Given the description of an element on the screen output the (x, y) to click on. 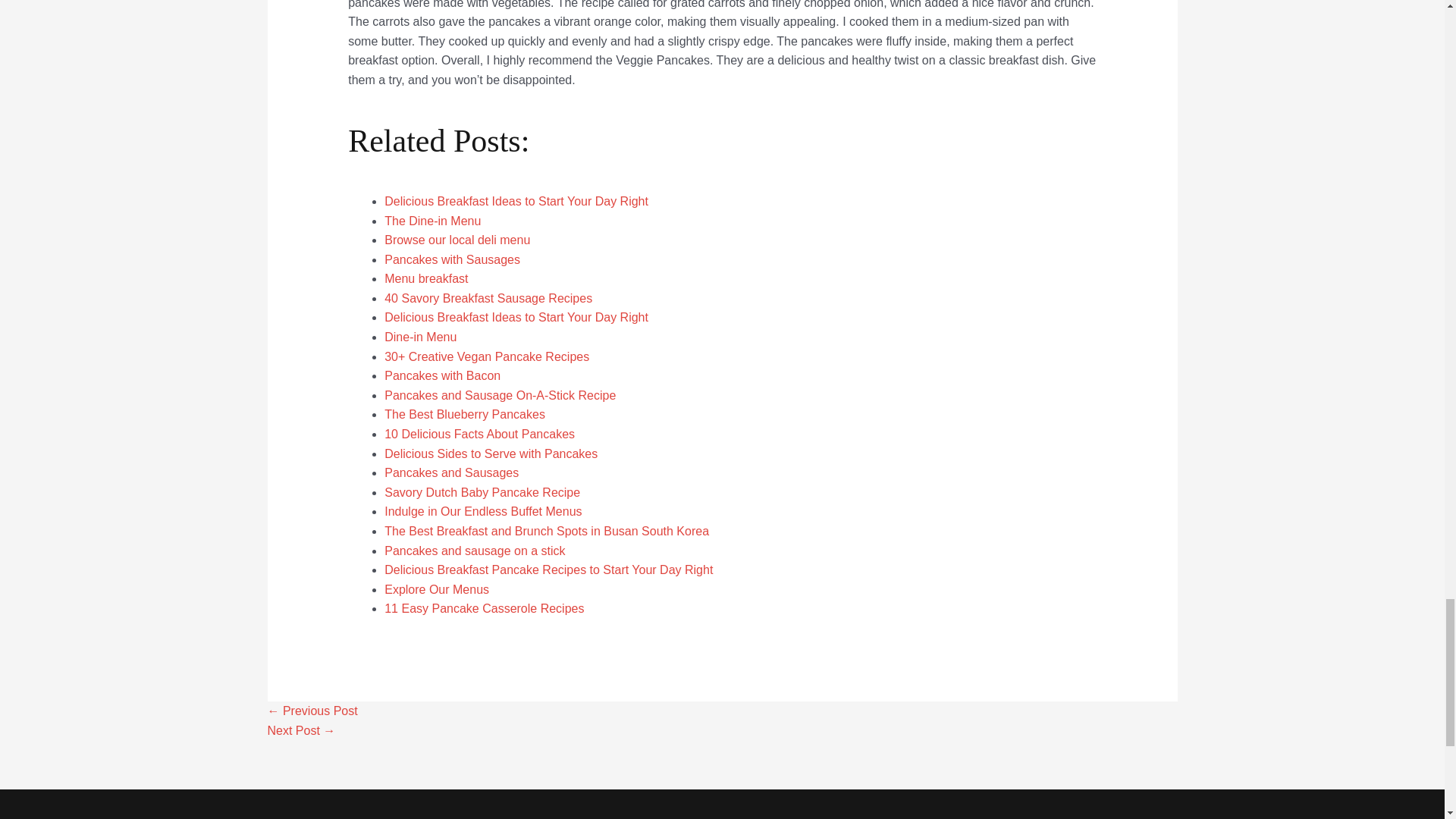
Explore Our Menus (436, 589)
Pancakes and Sausages (451, 472)
Delicious Breakfast Pancake Recipes to Start Your Day Right (548, 569)
The Dine-in Menu (432, 219)
Delicious Breakfast Ideas to Start Your Day Right (515, 201)
Pancakes with Sausages (451, 259)
Indulge in Our Endless Buffet Menus (482, 511)
Savory Dutch Baby Pancake Recipe (481, 492)
The Best Breakfast and Brunch Spots in Busan South Korea (546, 530)
Menu breakfast (425, 278)
